Given the description of an element on the screen output the (x, y) to click on. 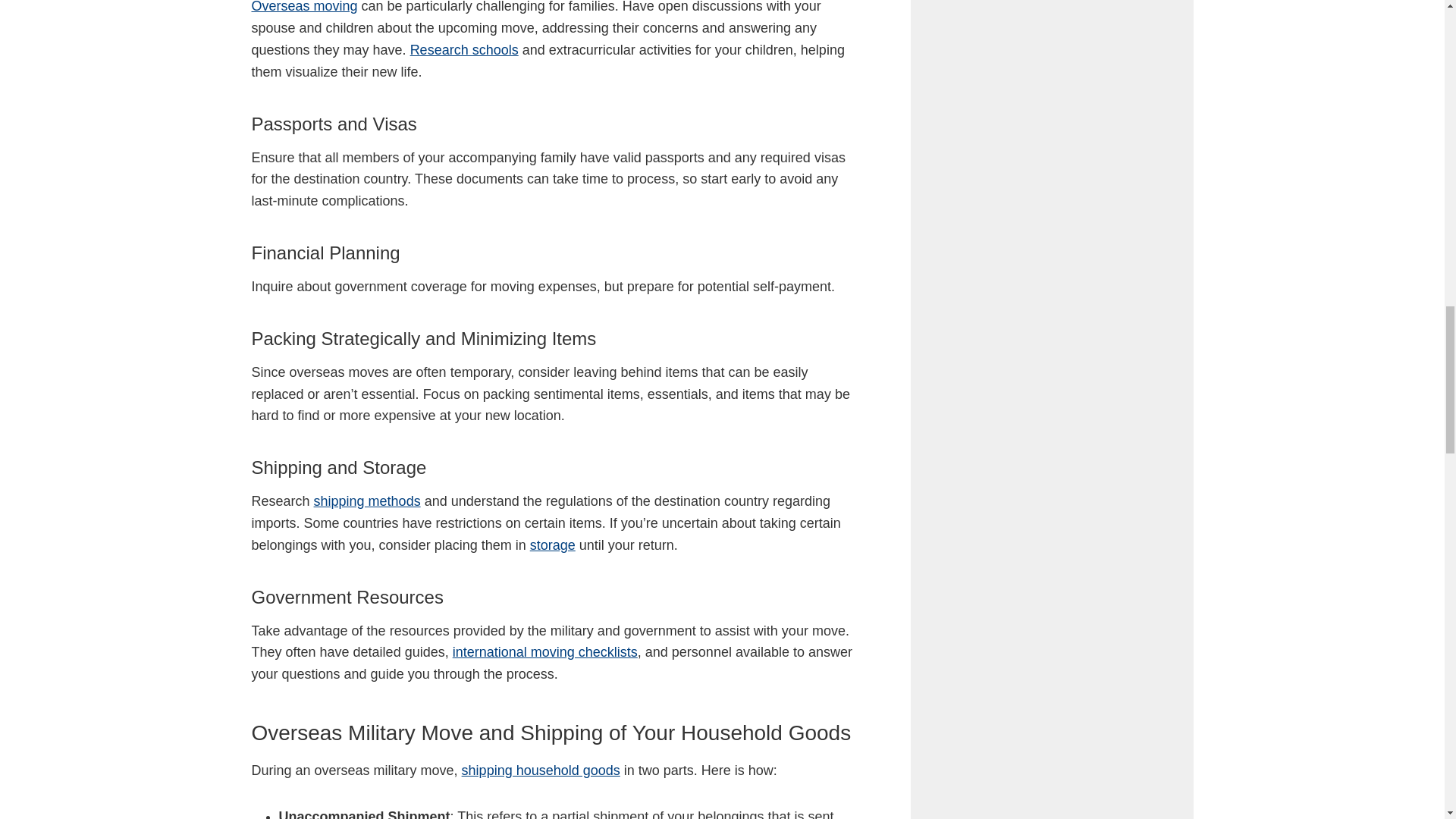
storage (552, 544)
shipping household goods (540, 770)
shipping methods (367, 500)
Overseas moving (304, 6)
Research schools (464, 49)
international moving checklists (544, 652)
